Given the description of an element on the screen output the (x, y) to click on. 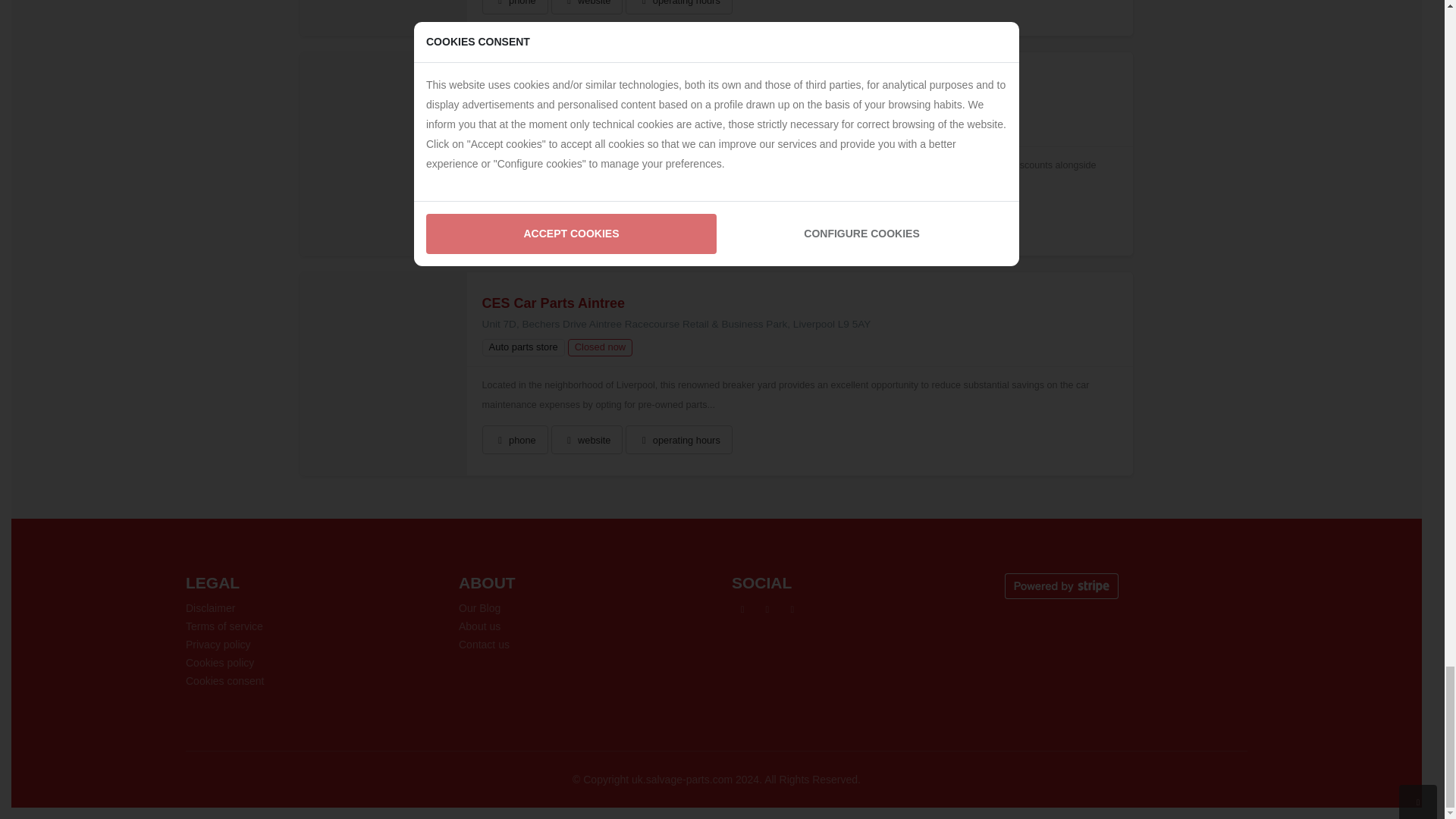
Twitter (767, 608)
Linkedin (792, 608)
Facebook (742, 608)
